Given the description of an element on the screen output the (x, y) to click on. 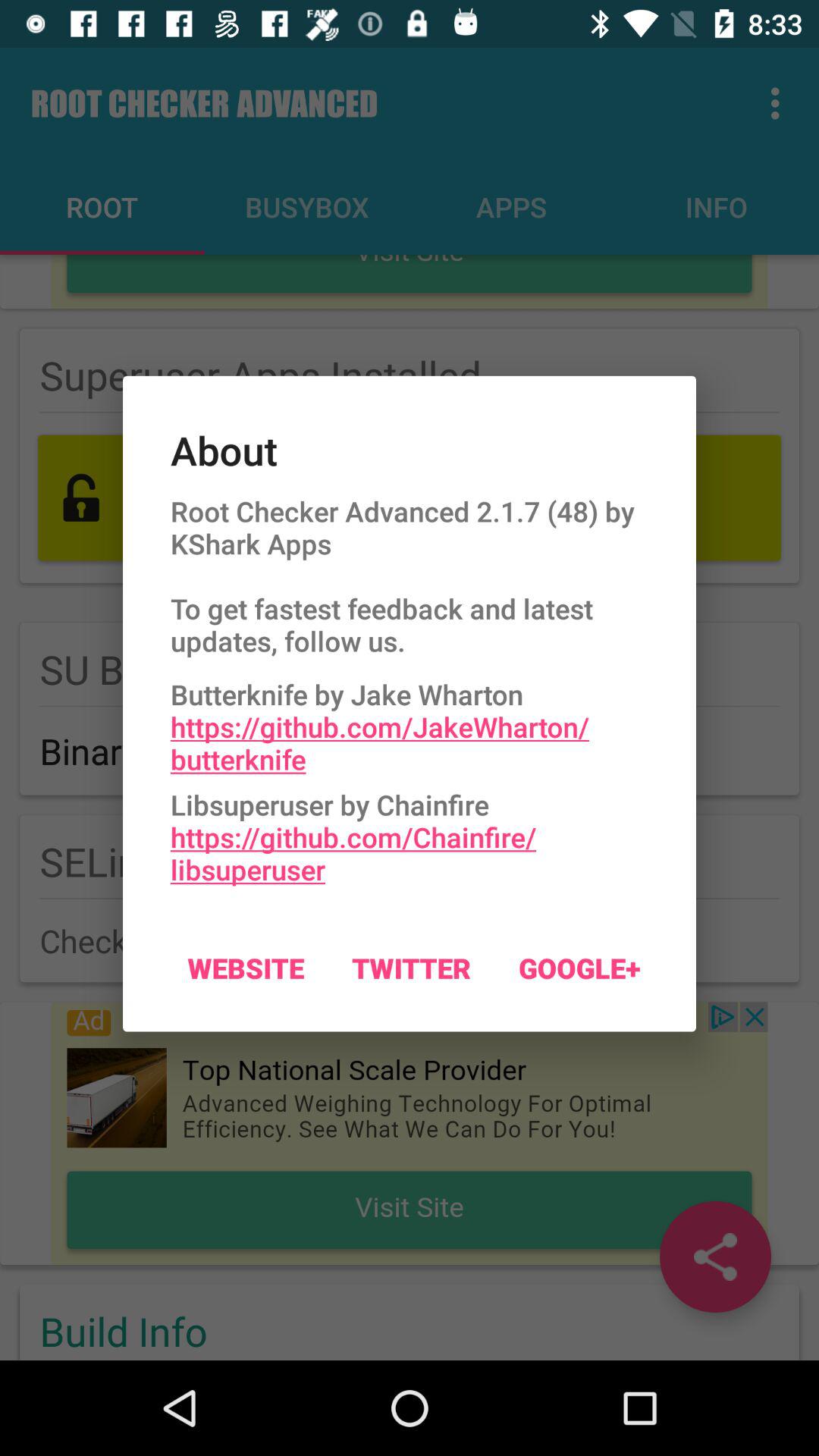
click the icon above libsuperuser by chainfire item (409, 722)
